Given the description of an element on the screen output the (x, y) to click on. 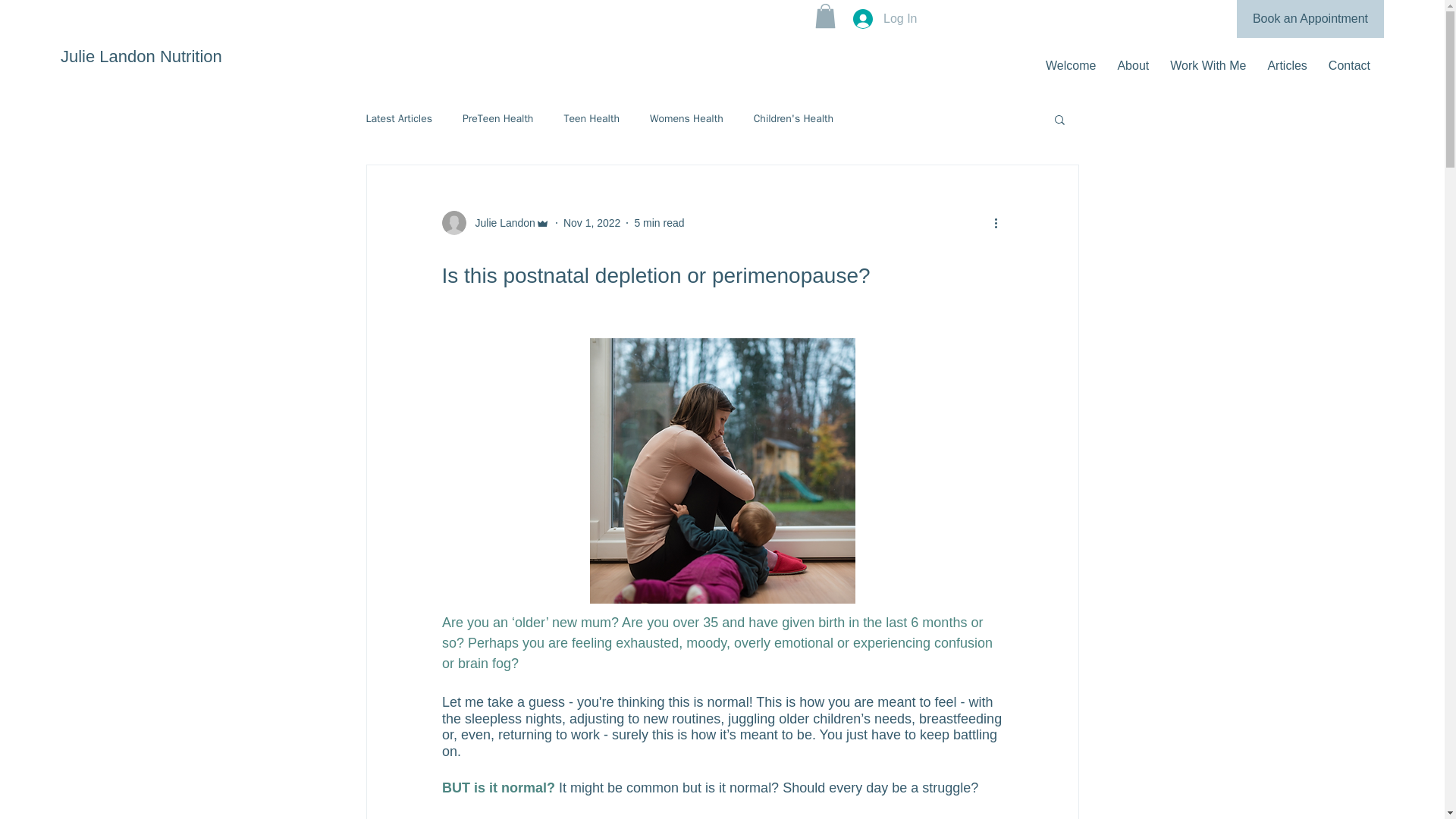
Nov 1, 2022 (592, 223)
Latest Articles (398, 119)
About (1132, 65)
Julie Landon (499, 222)
Julie Landon (494, 222)
Welcome (1070, 65)
Children's Health (793, 119)
Teen Health (591, 119)
Contact (1348, 65)
Log In (885, 18)
